Given the description of an element on the screen output the (x, y) to click on. 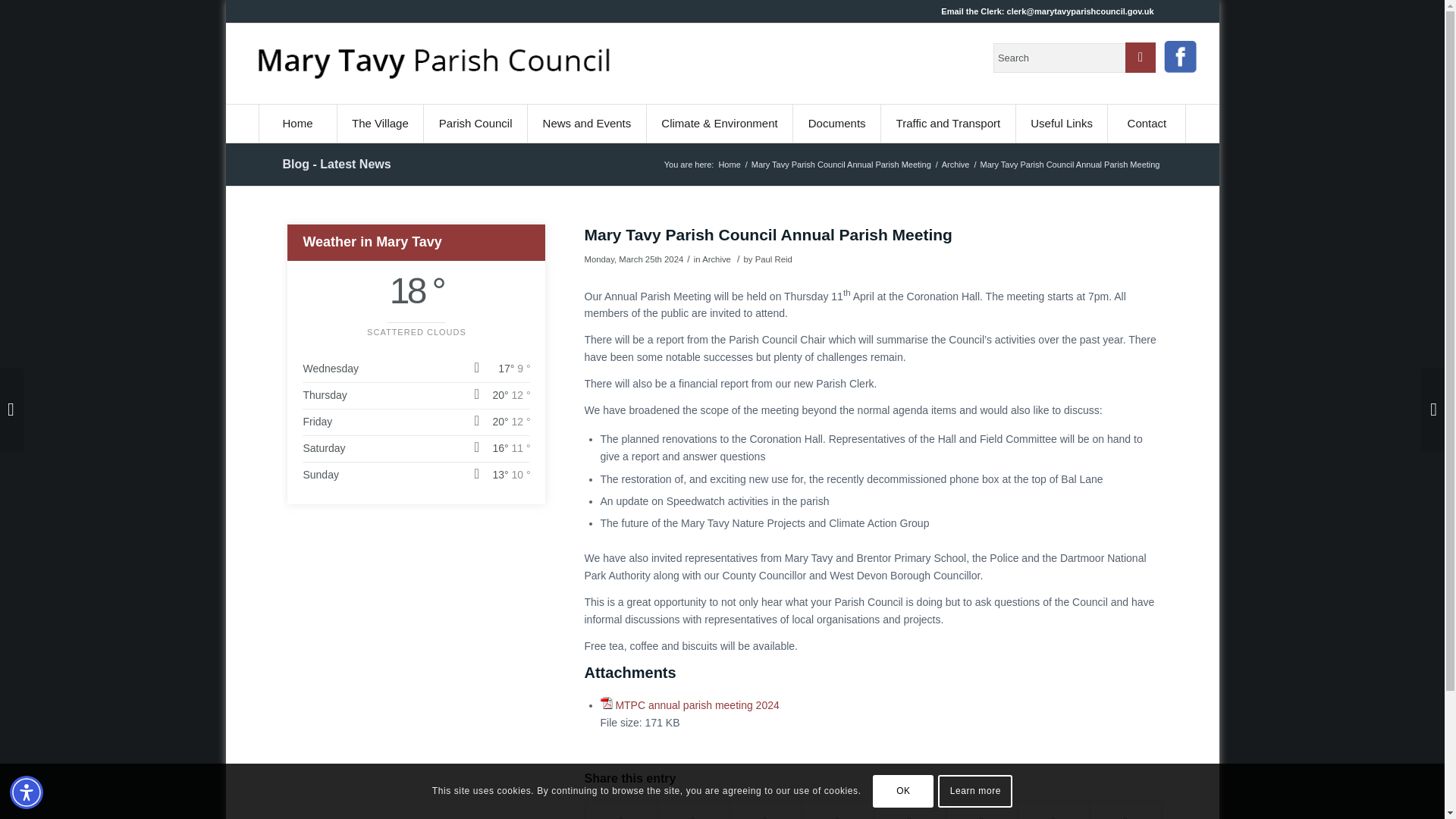
Mary Tavy Parish Council (729, 164)
Home (296, 123)
The Village (379, 123)
MTPC annual parish meeting 2024 (696, 705)
Accessibility Menu (26, 792)
News and Events (586, 123)
Parish Council (475, 123)
Posts by Paul Reid (773, 258)
Mary Tavy Parish Council Annual Parish Meeting (841, 164)
Permanent Link: Blog - Latest News (336, 164)
